Given the description of an element on the screen output the (x, y) to click on. 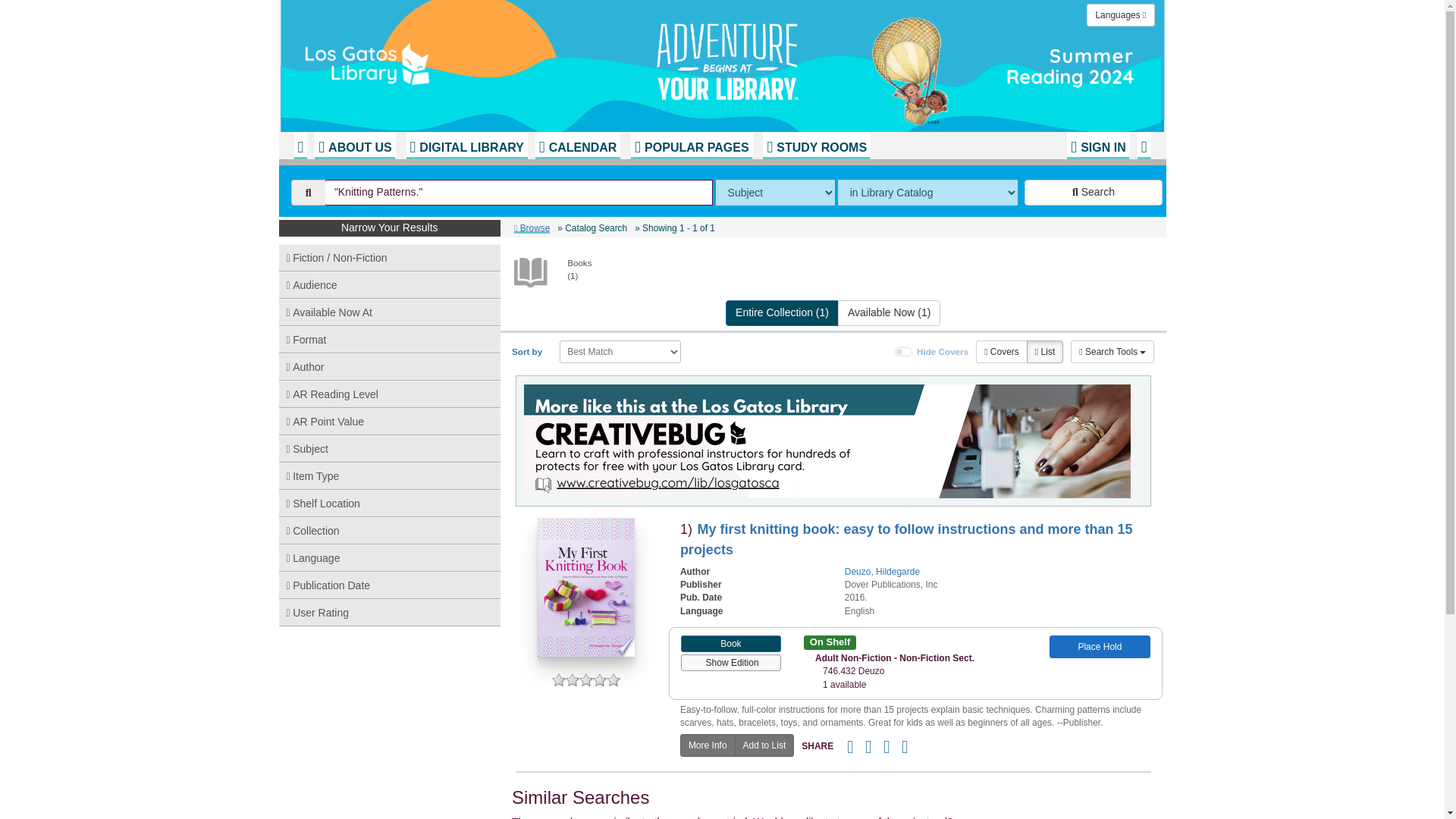
Languages  (1120, 15)
 Search (1093, 192)
Library Home Page (483, 60)
SIGN IN (1098, 144)
on (903, 351)
DIGITAL LIBRARY (466, 144)
ABOUT US (354, 144)
CALENDAR (578, 144)
STUDY ROOMS (816, 144)
POPULAR PAGES (691, 144)
"Knitting Patterns." (518, 192)
